Given the description of an element on the screen output the (x, y) to click on. 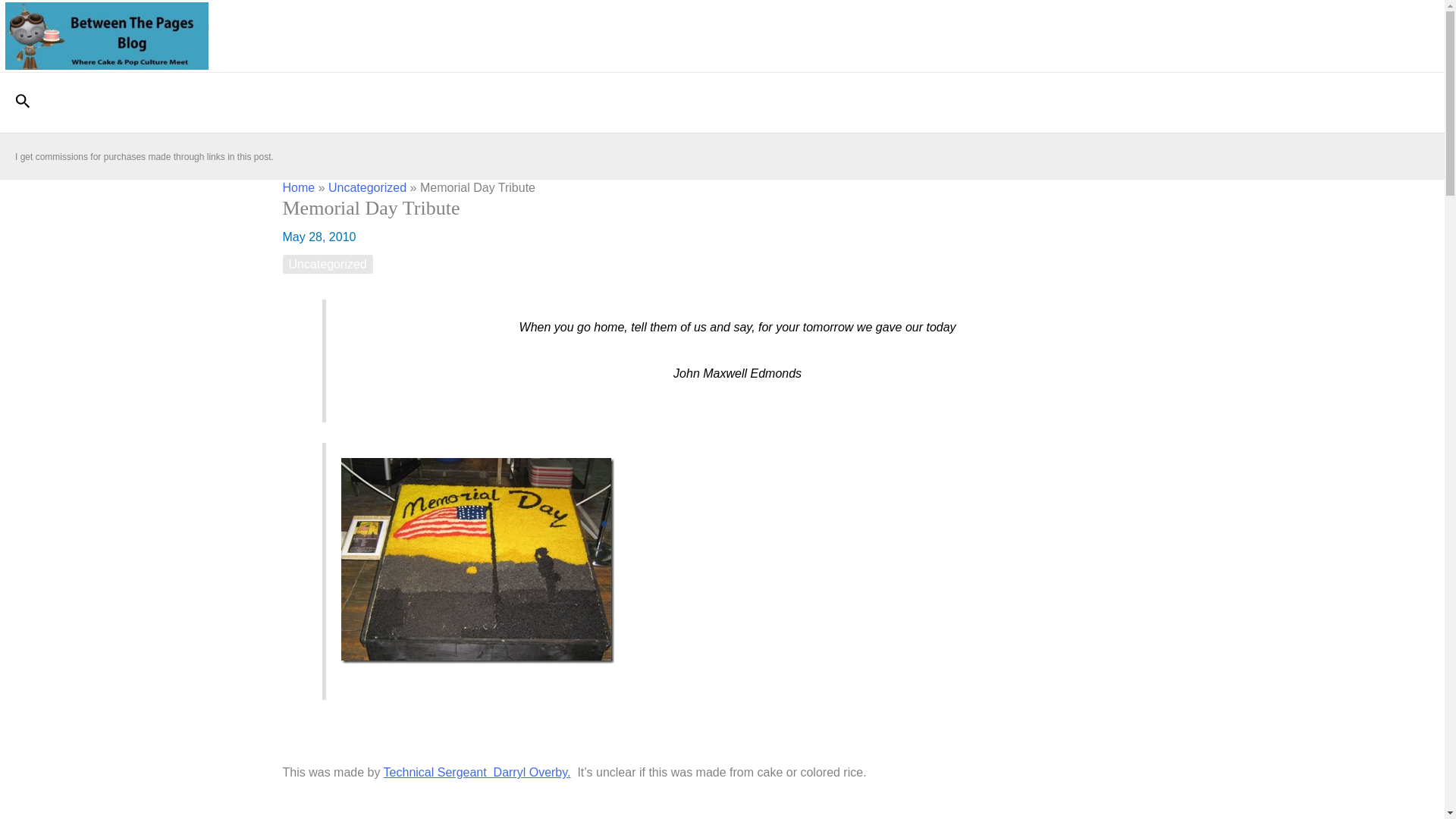
Uncategorized (327, 263)
Search (22, 102)
Memorial Day Cake (477, 560)
Home (298, 187)
Technical Sergeant  Darryl Overby. (477, 771)
Uncategorized (367, 187)
